Given the description of an element on the screen output the (x, y) to click on. 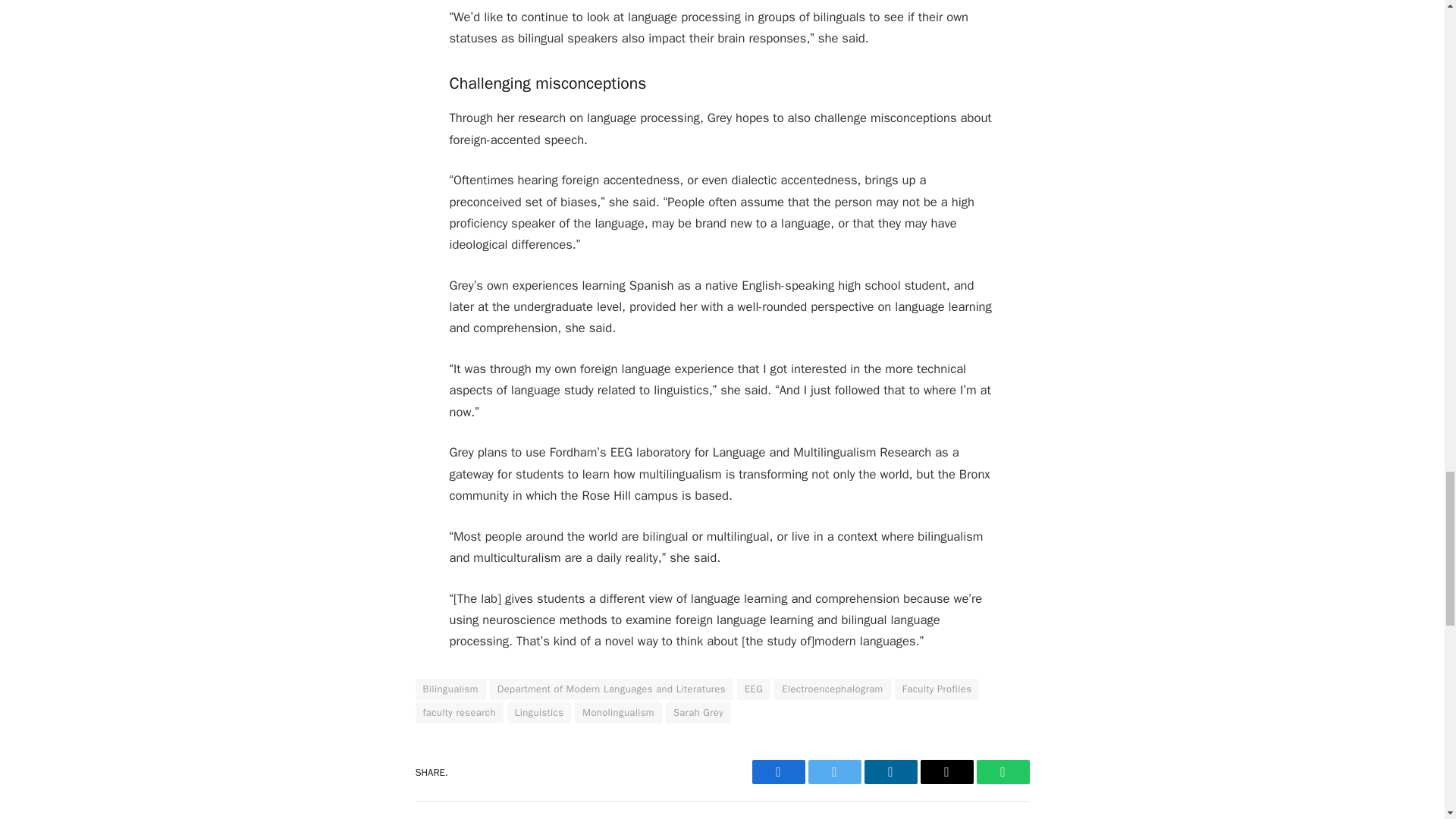
Share via Email (947, 771)
Share on Facebook (778, 771)
Share on LinkedIn (890, 771)
Share on WhatsApp (1002, 771)
